Given the description of an element on the screen output the (x, y) to click on. 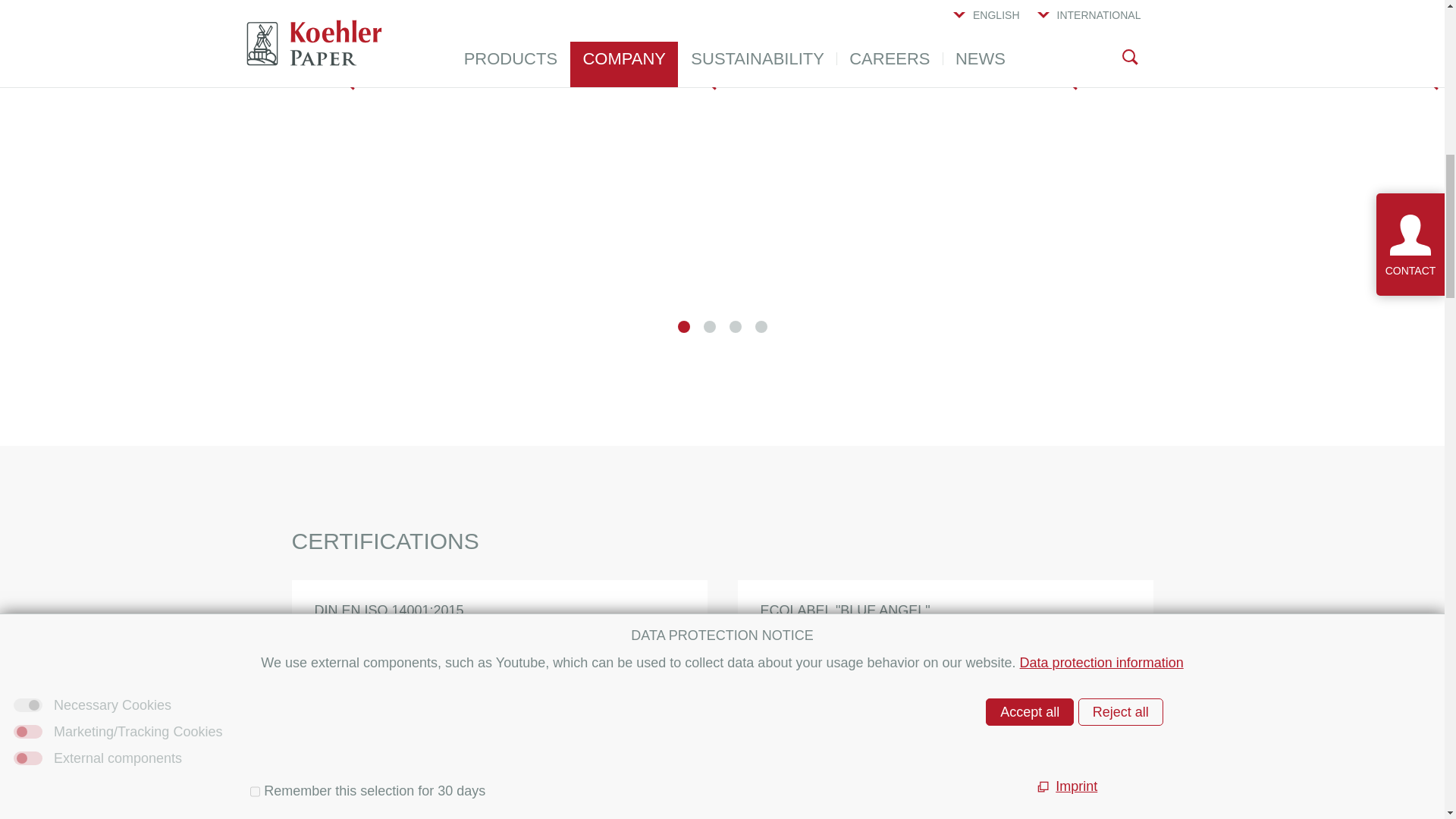
"Blue Angle" (943, 730)
Umwelt Zertifizierung (498, 730)
